Given the description of an element on the screen output the (x, y) to click on. 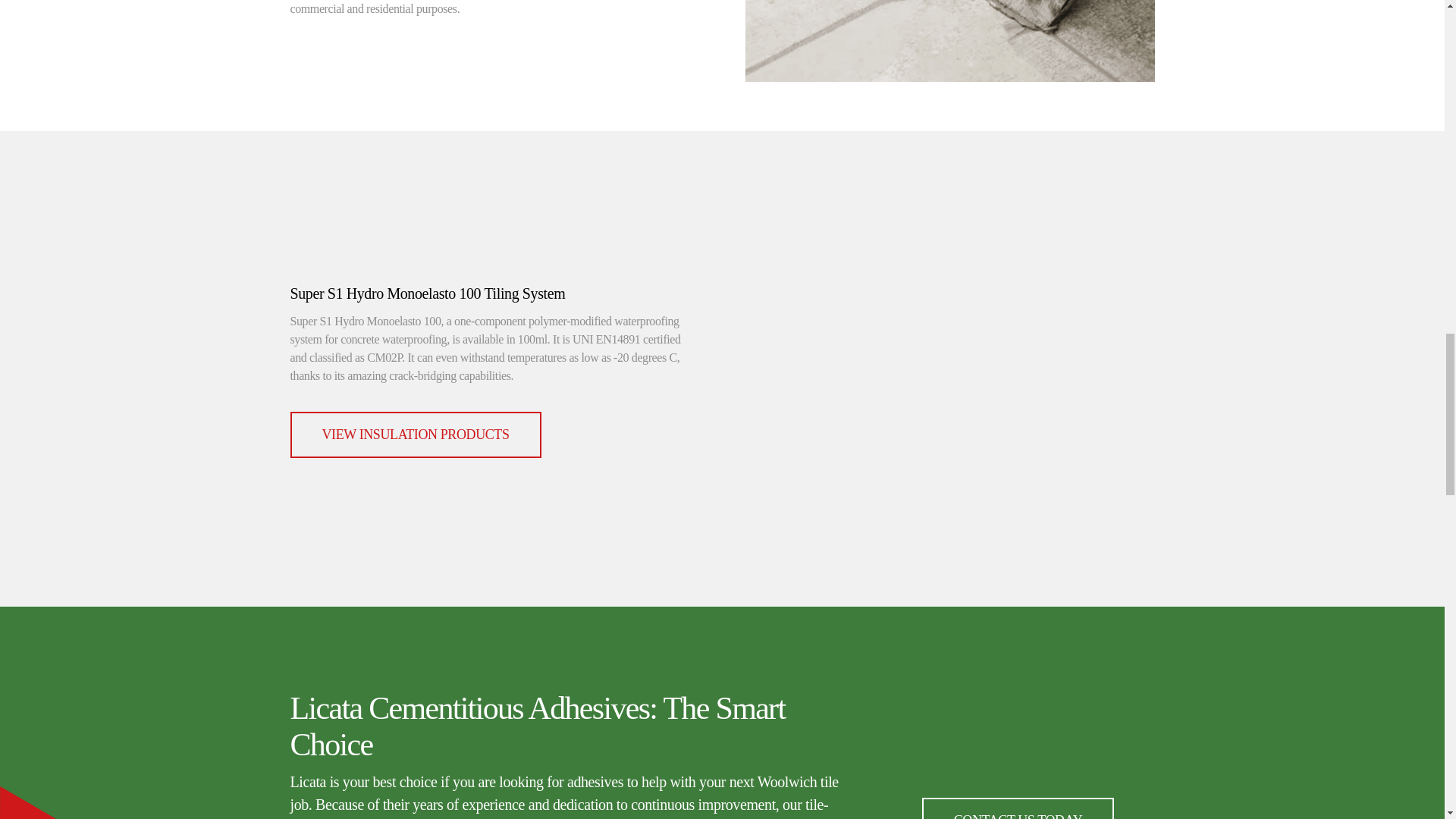
External Wall Insulation Systems (414, 434)
Contact Us (1018, 808)
